Given the description of an element on the screen output the (x, y) to click on. 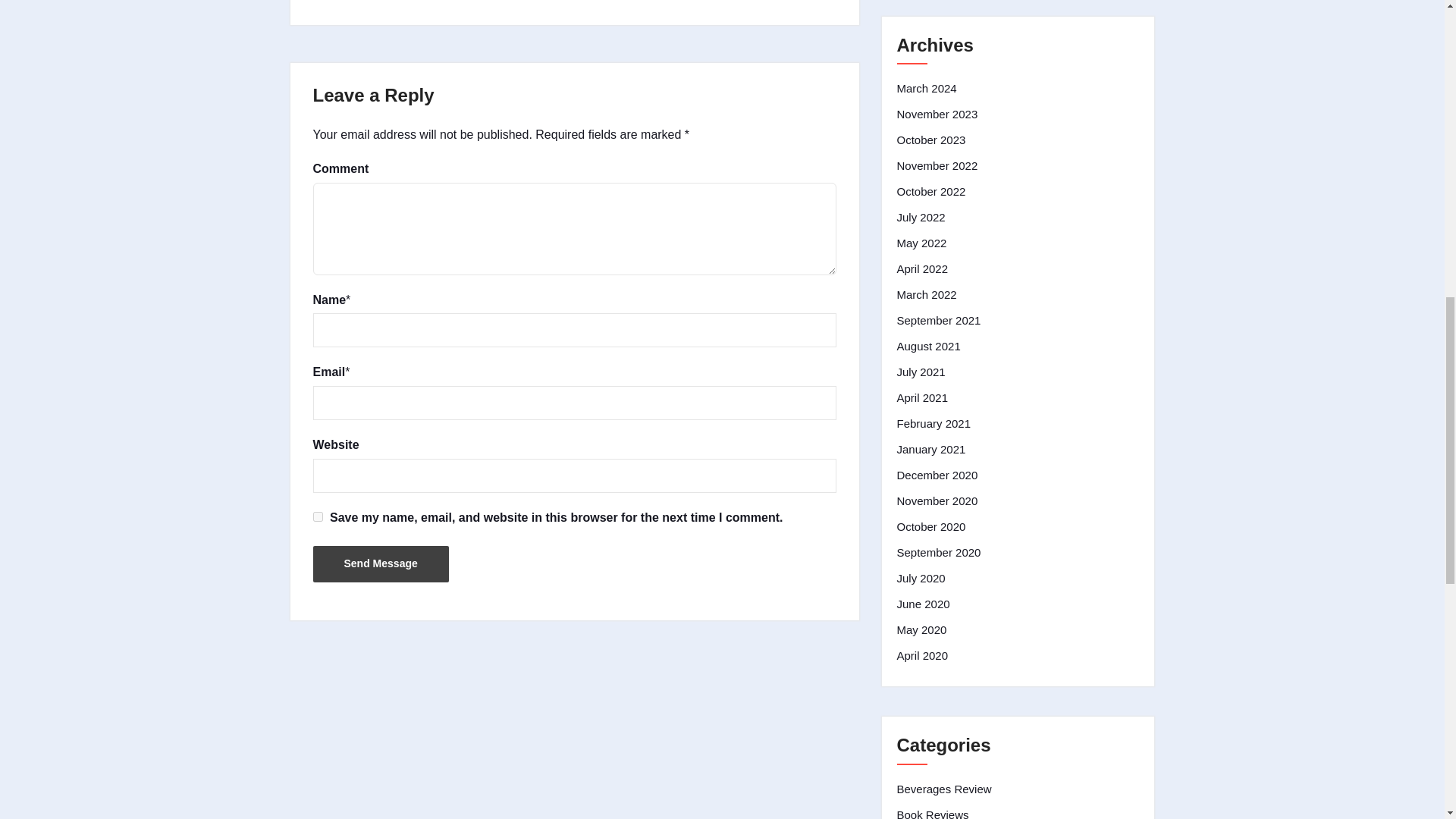
Send Message (380, 564)
March 2024 (926, 88)
July 2022 (920, 217)
March 2022 (926, 294)
April 2021 (921, 398)
February 2021 (933, 423)
Send Message (380, 564)
May 2022 (921, 243)
April 2022 (921, 269)
August 2021 (927, 346)
